Given the description of an element on the screen output the (x, y) to click on. 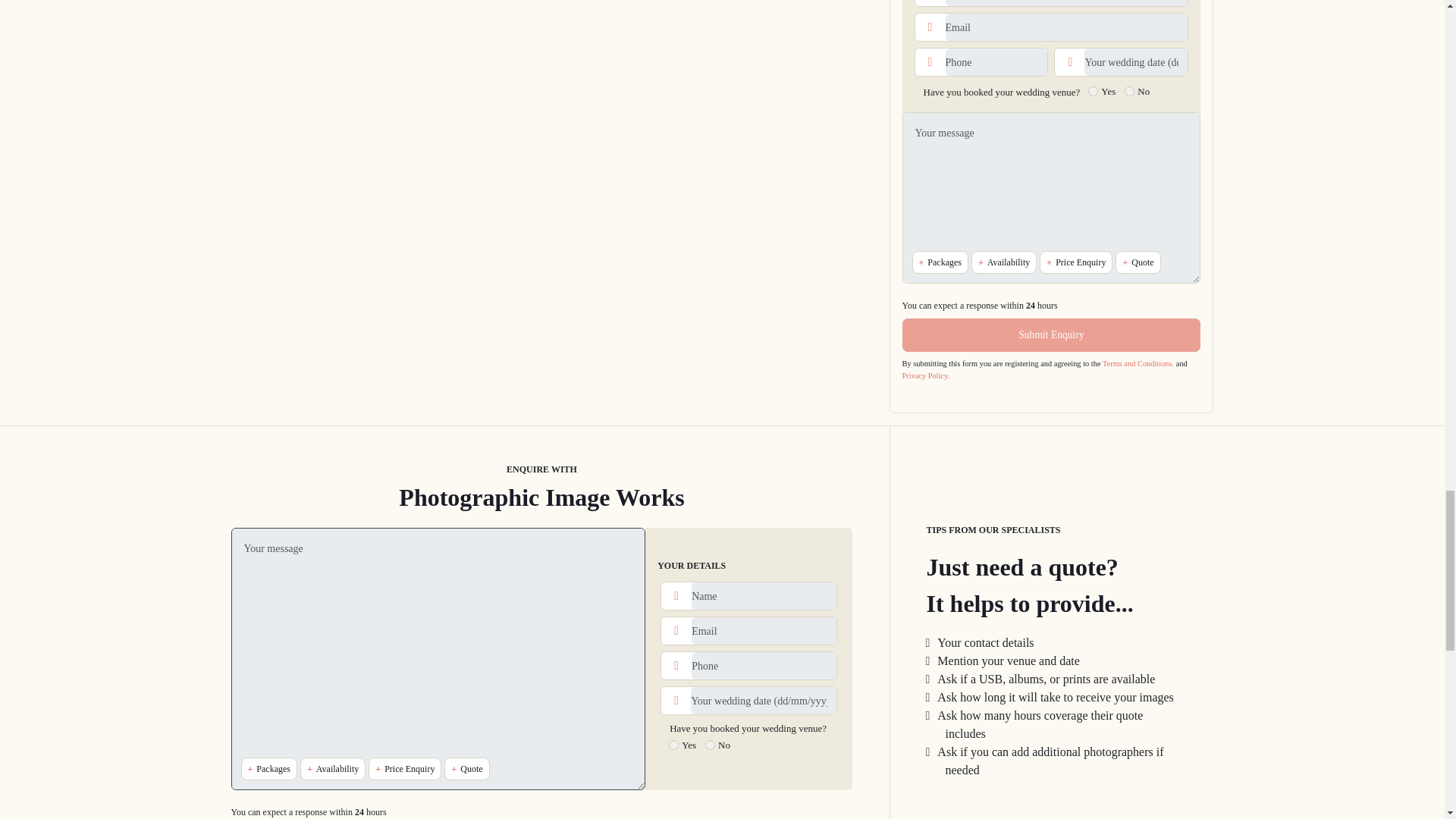
No (709, 745)
Yes (673, 745)
